Given the description of an element on the screen output the (x, y) to click on. 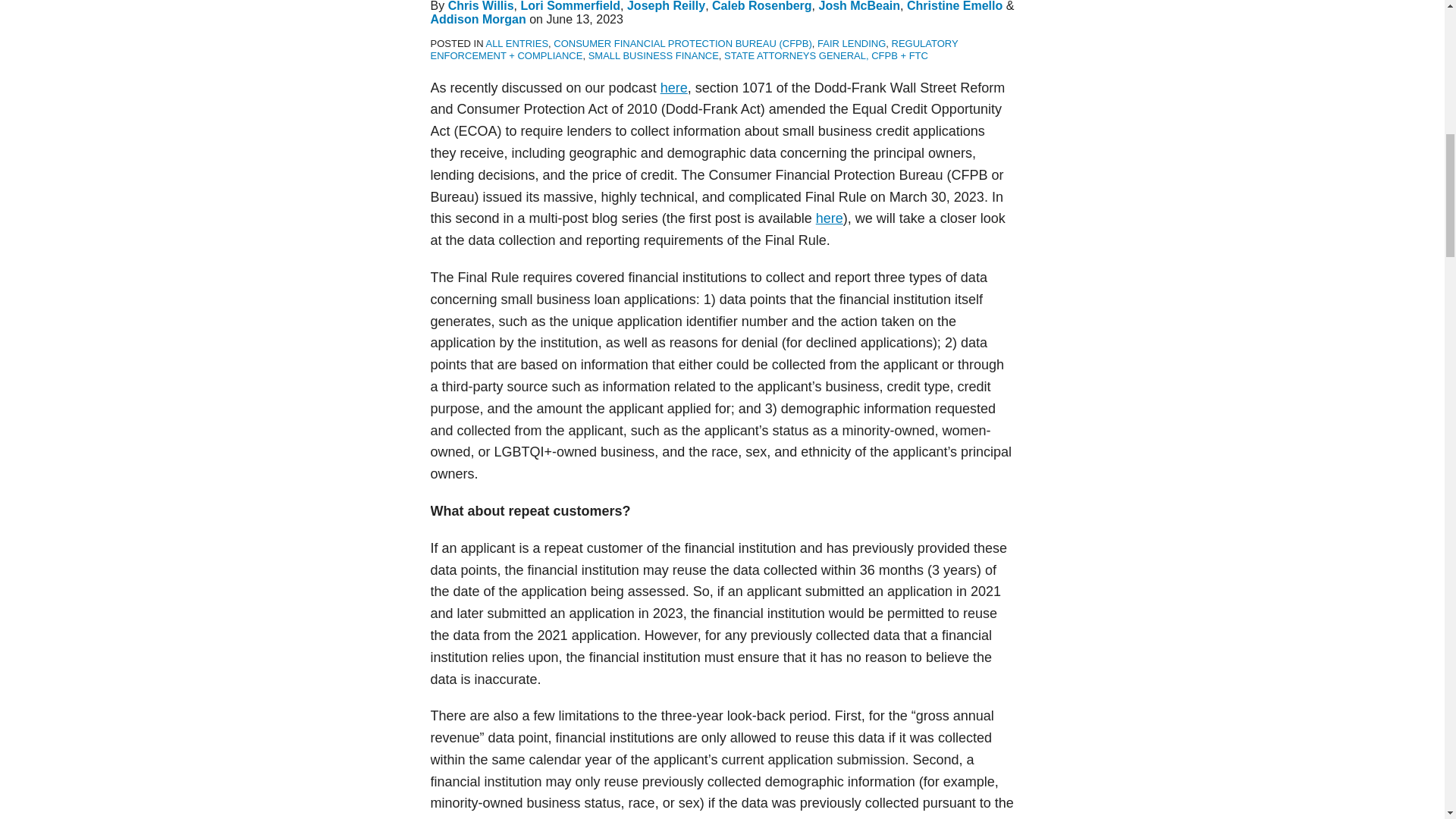
FAIR LENDING (850, 43)
Josh McBeain (859, 6)
Addison Morgan (477, 19)
Caleb Rosenberg (761, 6)
SMALL BUSINESS FINANCE (653, 55)
here (674, 87)
here (829, 218)
Joseph Reilly (665, 6)
Chris Willis (480, 6)
Lori Sommerfield (569, 6)
